Given the description of an element on the screen output the (x, y) to click on. 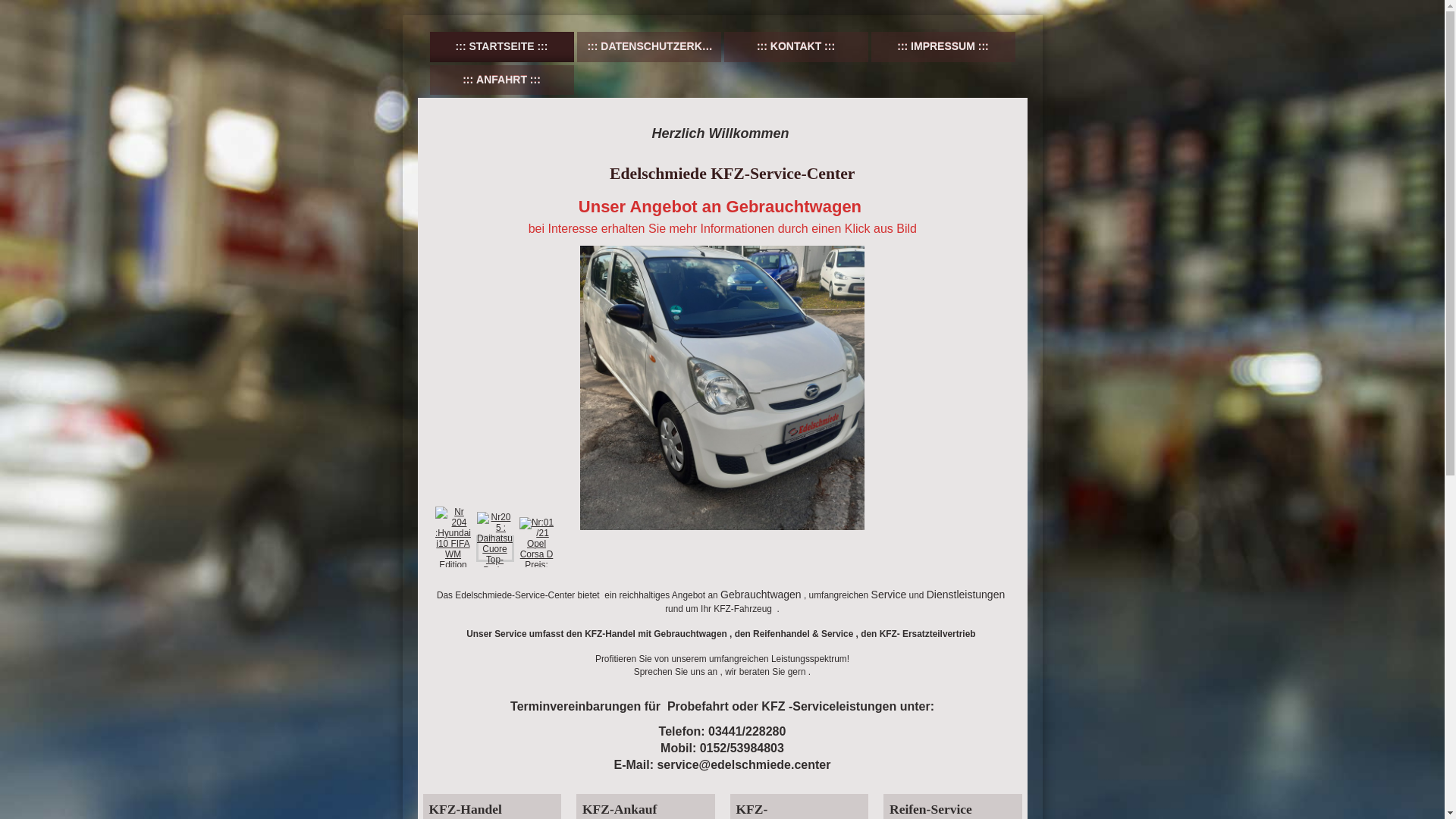
IMPRESSUM Element type: text (942, 46)
KONTAKT Element type: text (795, 46)
STARTSEITE Element type: text (501, 46)
ANFAHRT Element type: text (501, 80)
